Given the description of an element on the screen output the (x, y) to click on. 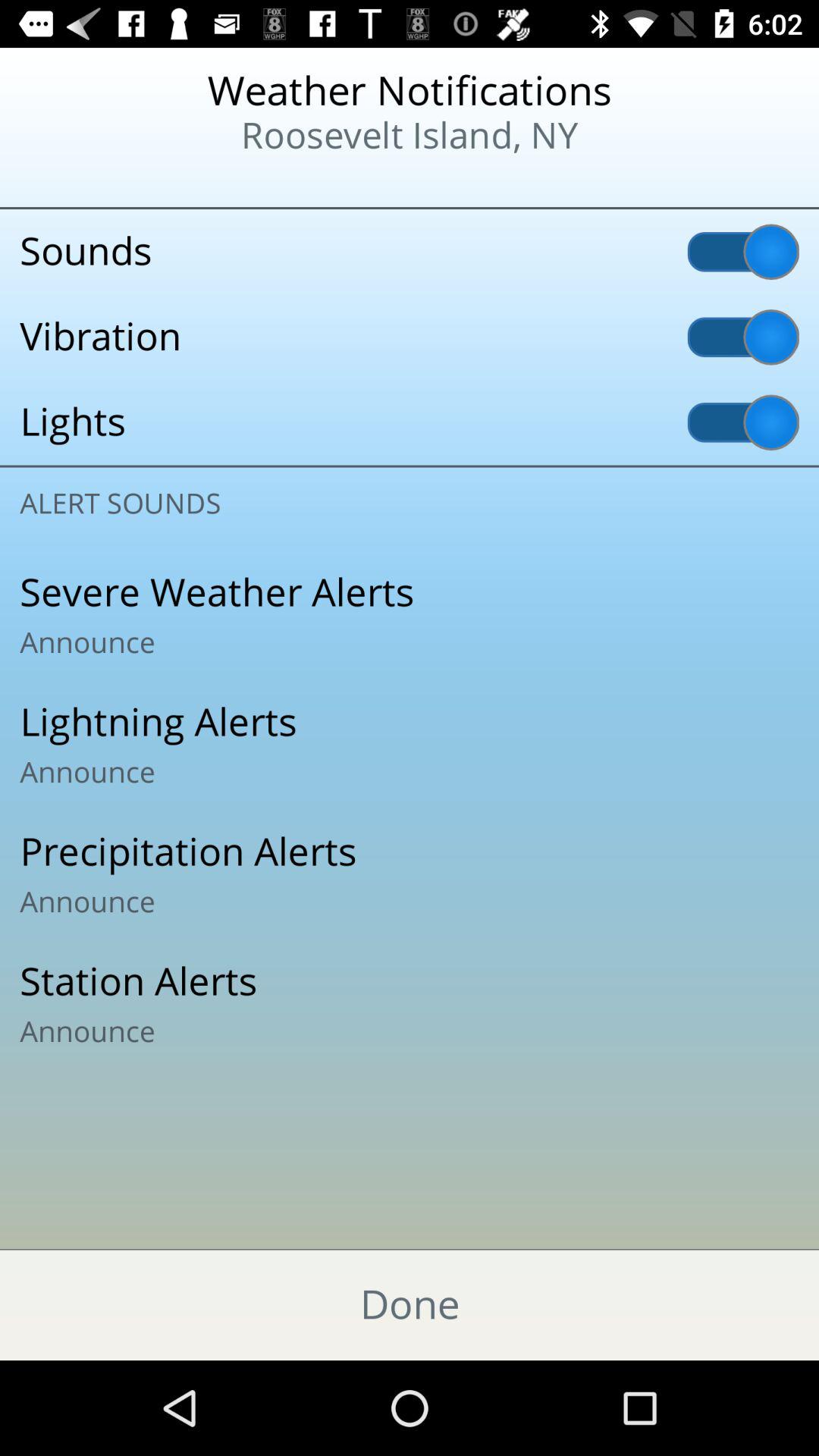
open done item (409, 1305)
